Given the description of an element on the screen output the (x, y) to click on. 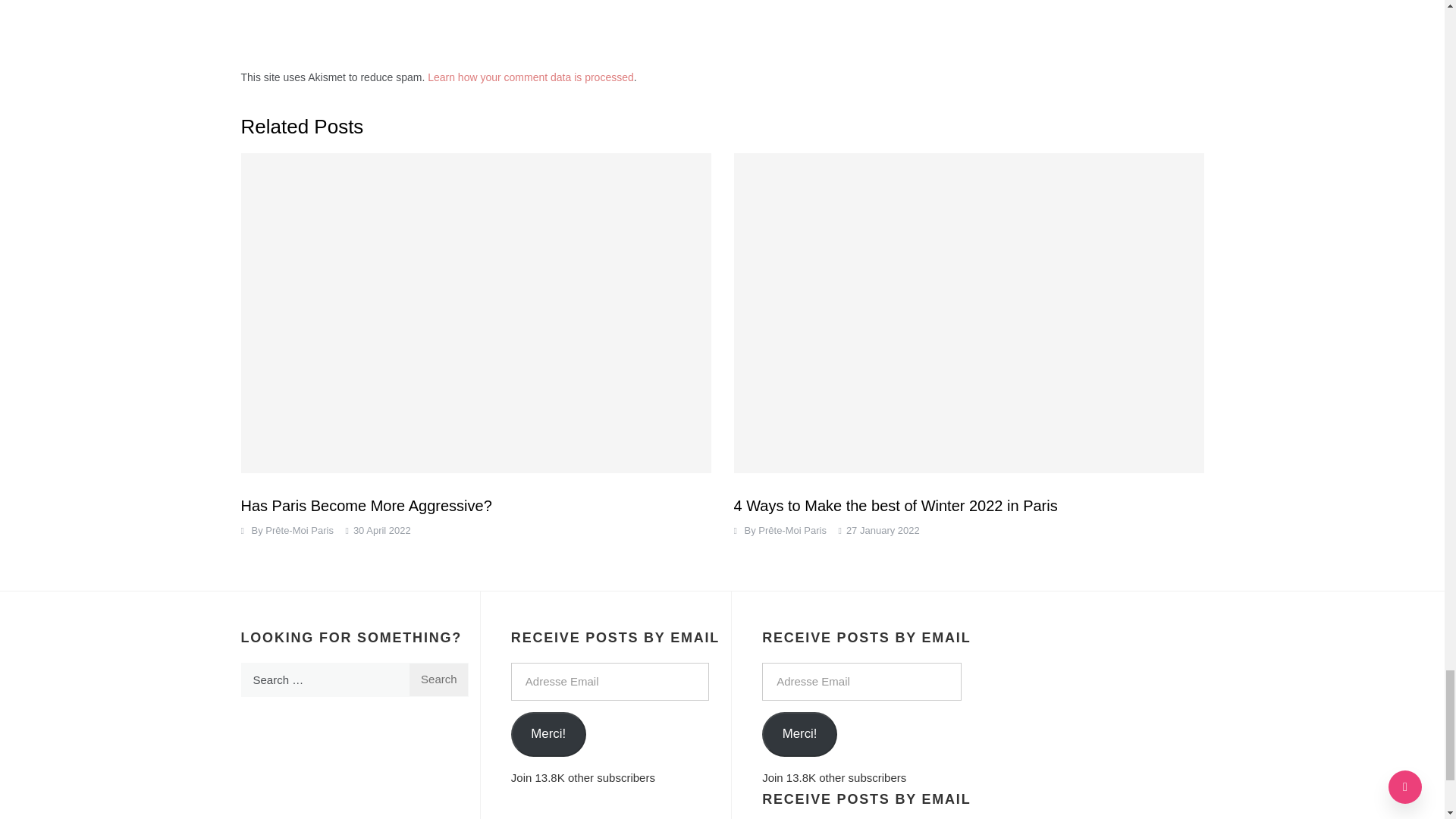
Comment Form (586, 17)
Search (438, 679)
Search (438, 679)
